Given the description of an element on the screen output the (x, y) to click on. 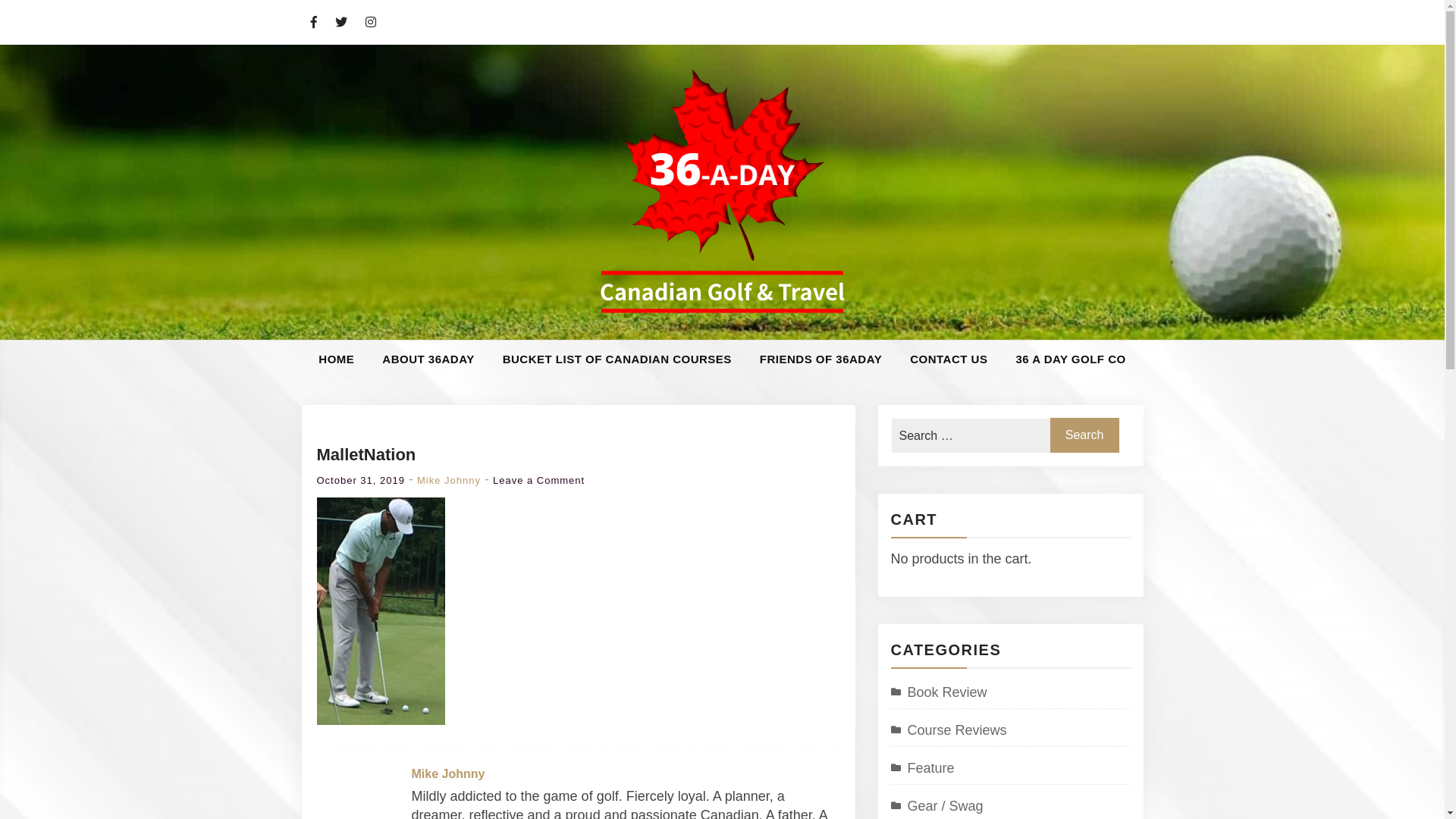
MalletNation Element type: text (366, 454)
HOME Element type: text (336, 358)
Feature Element type: text (921, 768)
ABOUT 36ADAY Element type: text (428, 358)
October 31, 2019 Element type: text (360, 480)
Gear / Swag Element type: text (936, 805)
Book Review Element type: text (938, 692)
Leave a Comment
on MalletNation Element type: text (538, 480)
Search Element type: text (46, 31)
Mike Johnny Element type: text (448, 480)
Search Element type: text (1084, 434)
FRIENDS OF 36ADAY Element type: text (820, 358)
36 A DAY GOLF CO Element type: text (1070, 358)
Mike Johnny Element type: text (447, 773)
BUCKET LIST OF CANADIAN COURSES Element type: text (616, 358)
CONTACT US Element type: text (948, 358)
Course Reviews Element type: text (948, 730)
